Given the description of an element on the screen output the (x, y) to click on. 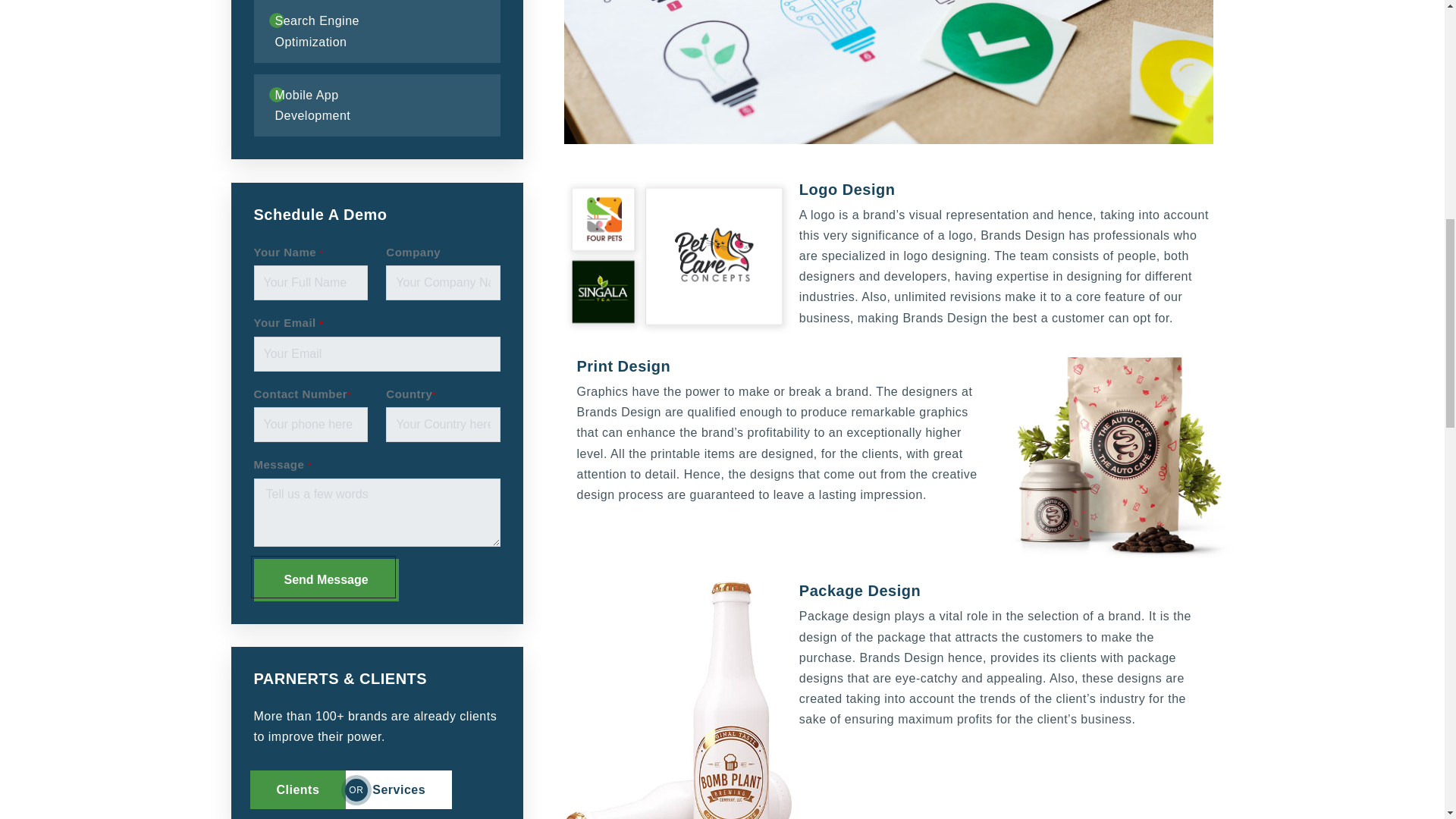
Mobile App Development (344, 105)
Services (398, 789)
Search Engine Optimization (352, 30)
OR (356, 789)
Send Message (325, 579)
Clients (298, 789)
